Given the description of an element on the screen output the (x, y) to click on. 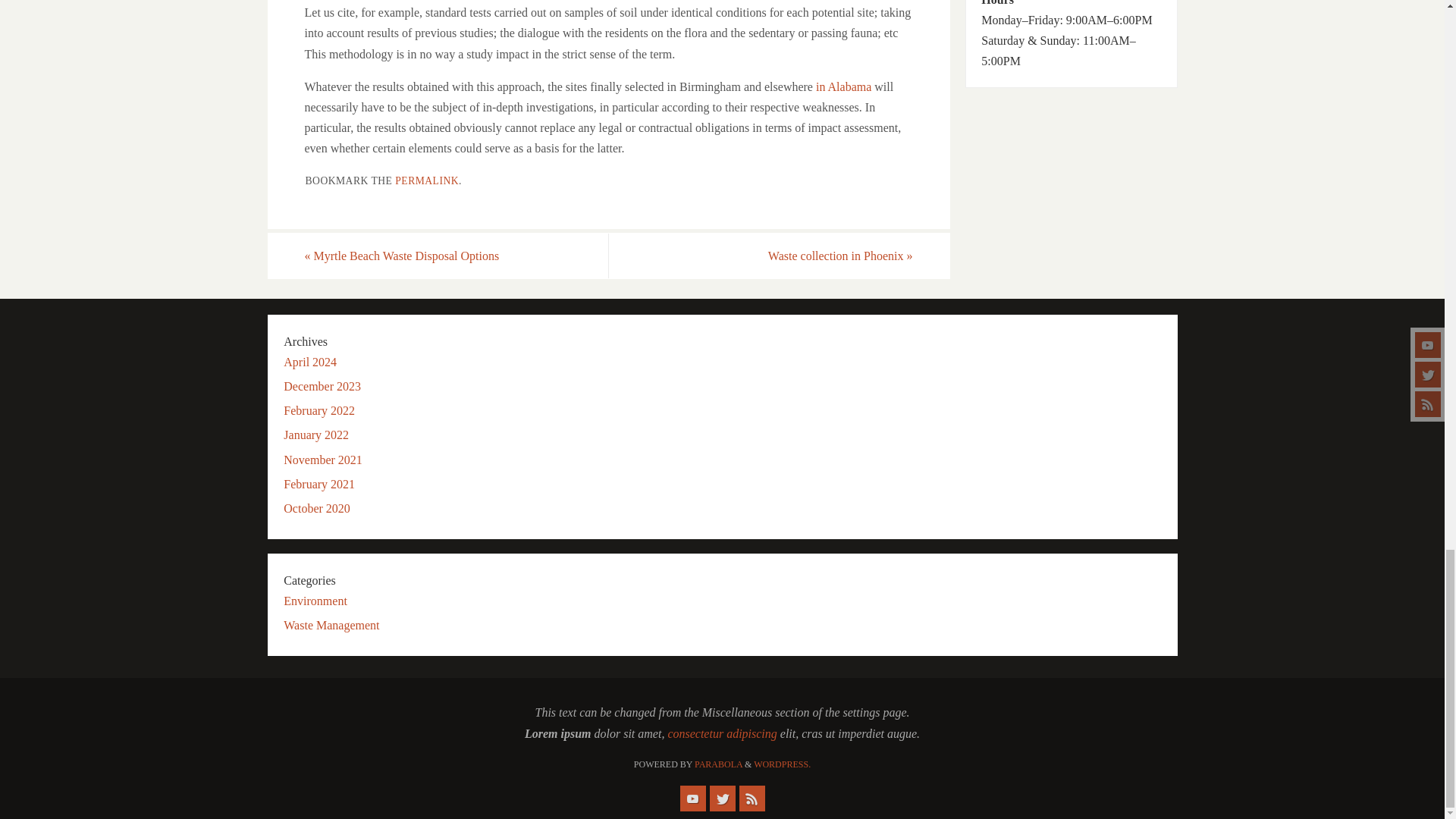
YouTube (691, 798)
February 2022 (319, 410)
December 2023 (322, 386)
Waste Management (330, 625)
February 2021 (319, 483)
PERMALINK (426, 180)
Twitter (722, 798)
PARABOLA (718, 764)
WORDPRESS. (782, 764)
consectetur adipiscing (721, 733)
